Given the description of an element on the screen output the (x, y) to click on. 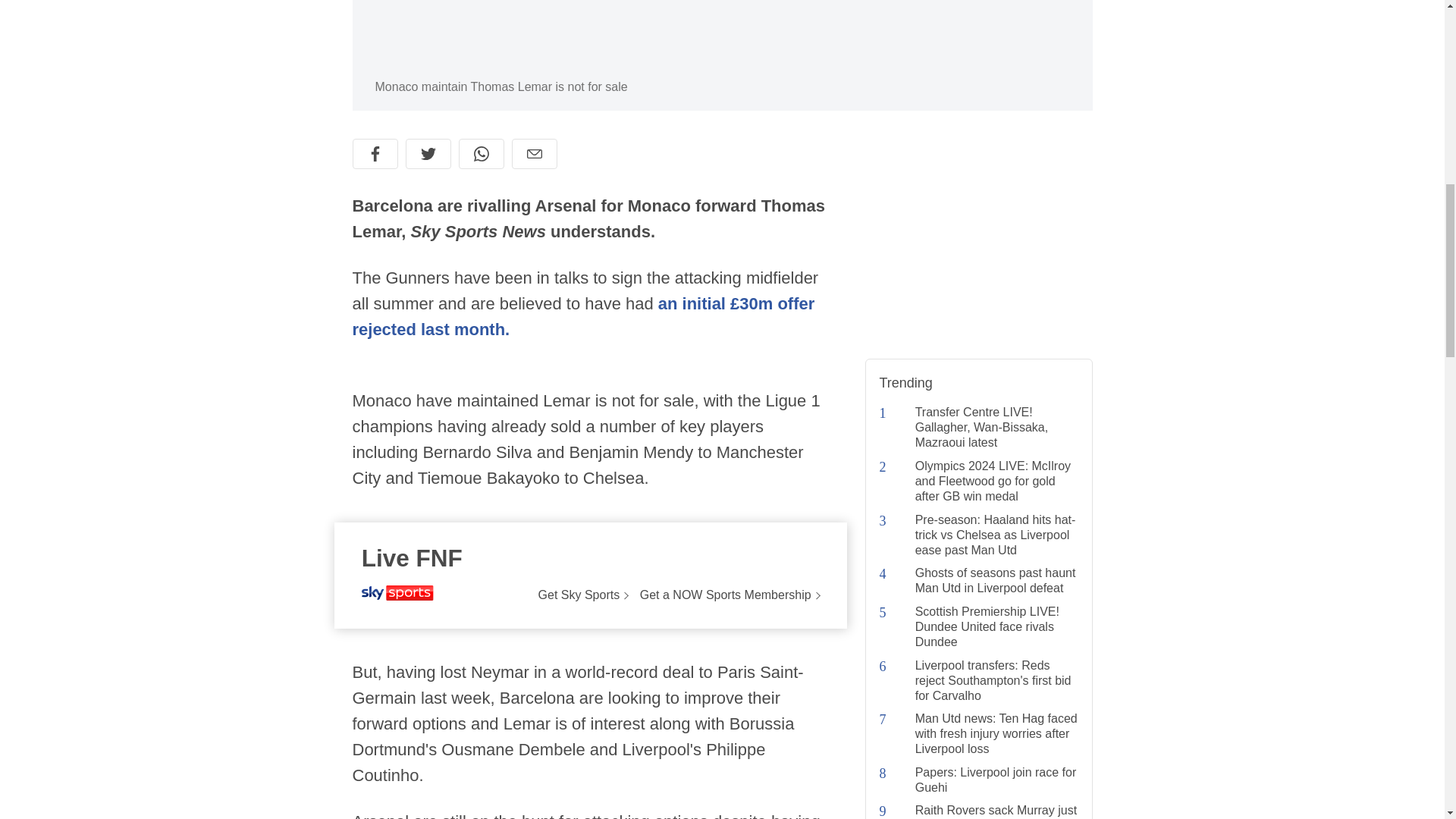
Share on Twitter (426, 153)
Share on WhatsApp (480, 153)
Share by email (533, 153)
Share on Facebook (374, 153)
